Given the description of an element on the screen output the (x, y) to click on. 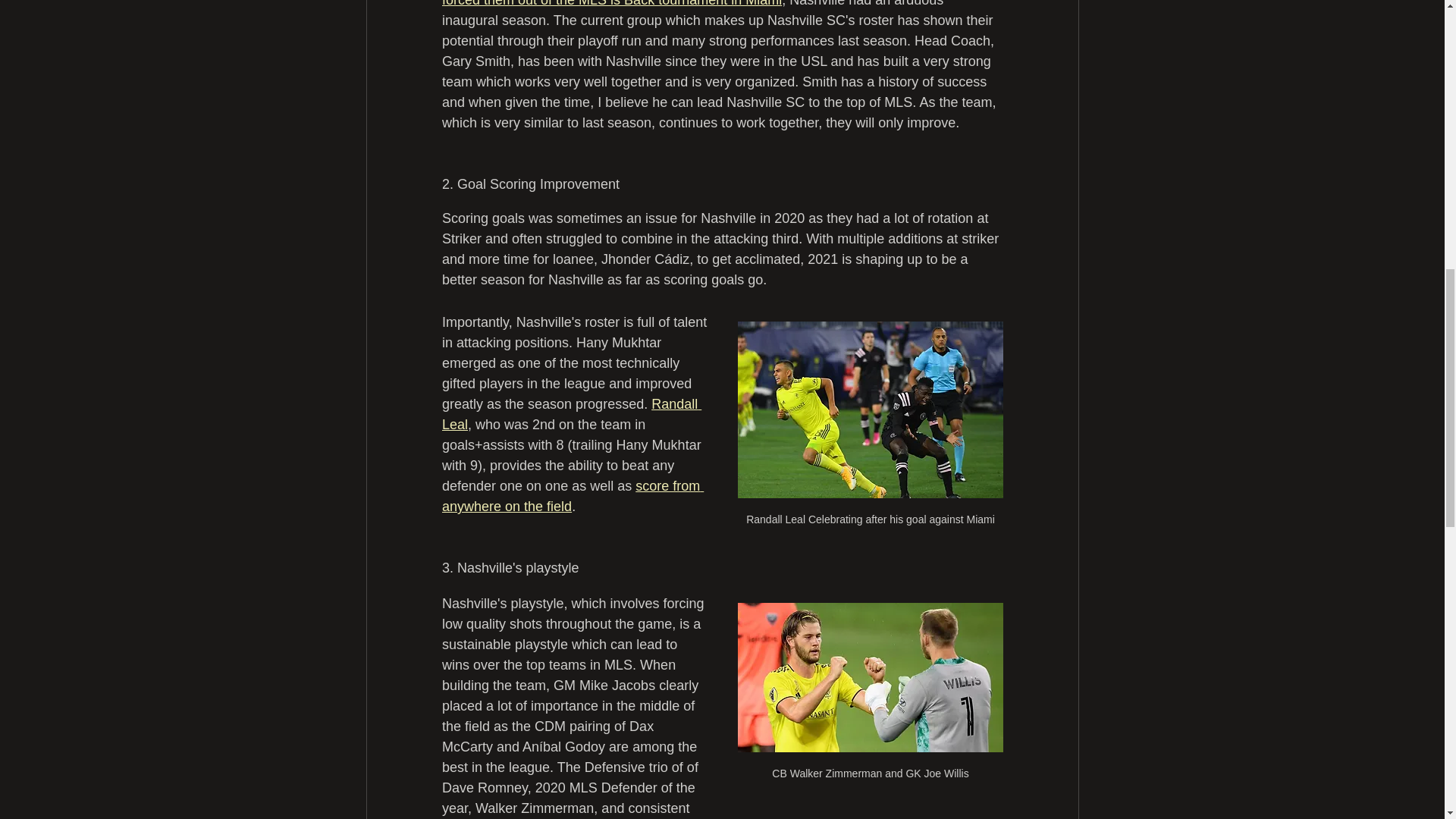
Randall Leal Celebrating after his goal against Miami (869, 431)
score from anywhere on the field (572, 496)
Randall Leal (570, 414)
CB Walker Zimmerman and GK Joe Willis (869, 698)
